Given the description of an element on the screen output the (x, y) to click on. 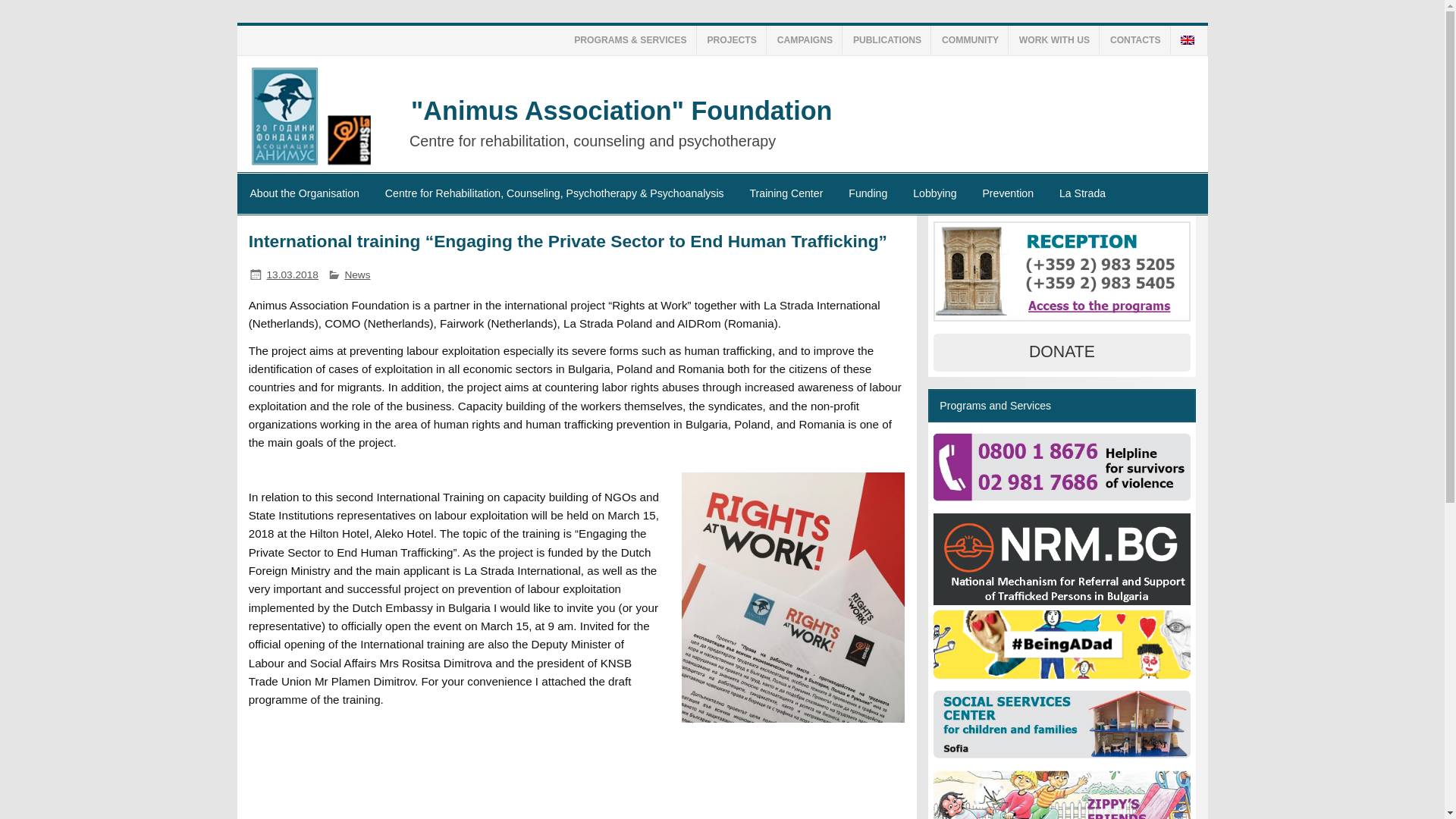
Training Center (785, 193)
PROJECTS (733, 39)
Lobbying (934, 193)
CAMPAIGNS (808, 39)
DONATE (1061, 352)
COMMUNITY (972, 39)
PUBLICATIONS (889, 39)
Prevention (1007, 193)
English (1186, 40)
13.03.2018 (292, 274)
About the Organisation (303, 193)
13:46 (292, 274)
La Strada (1082, 193)
News (356, 274)
Funding (867, 193)
